Given the description of an element on the screen output the (x, y) to click on. 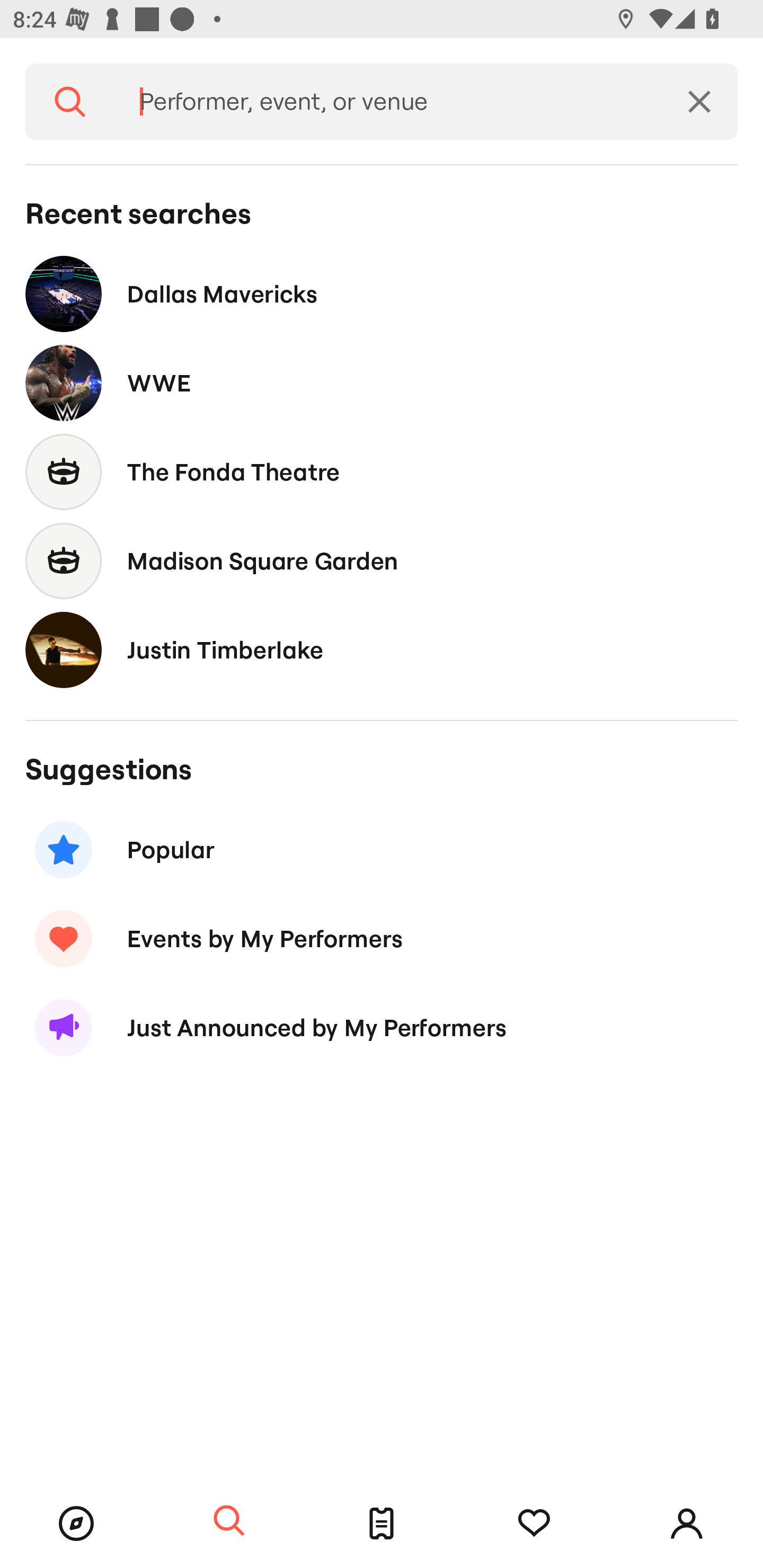
Search (69, 101)
Performer, event, or venue (387, 101)
Clear (699, 101)
Dallas Mavericks (381, 293)
WWE (381, 383)
The Fonda Theatre (381, 471)
Madison Square Garden (381, 560)
Justin Timberlake (381, 649)
Popular (381, 849)
Events by My Performers (381, 938)
Just Announced by My Performers (381, 1027)
Browse (76, 1523)
Search (228, 1521)
Tickets (381, 1523)
Tracking (533, 1523)
Account (686, 1523)
